Given the description of an element on the screen output the (x, y) to click on. 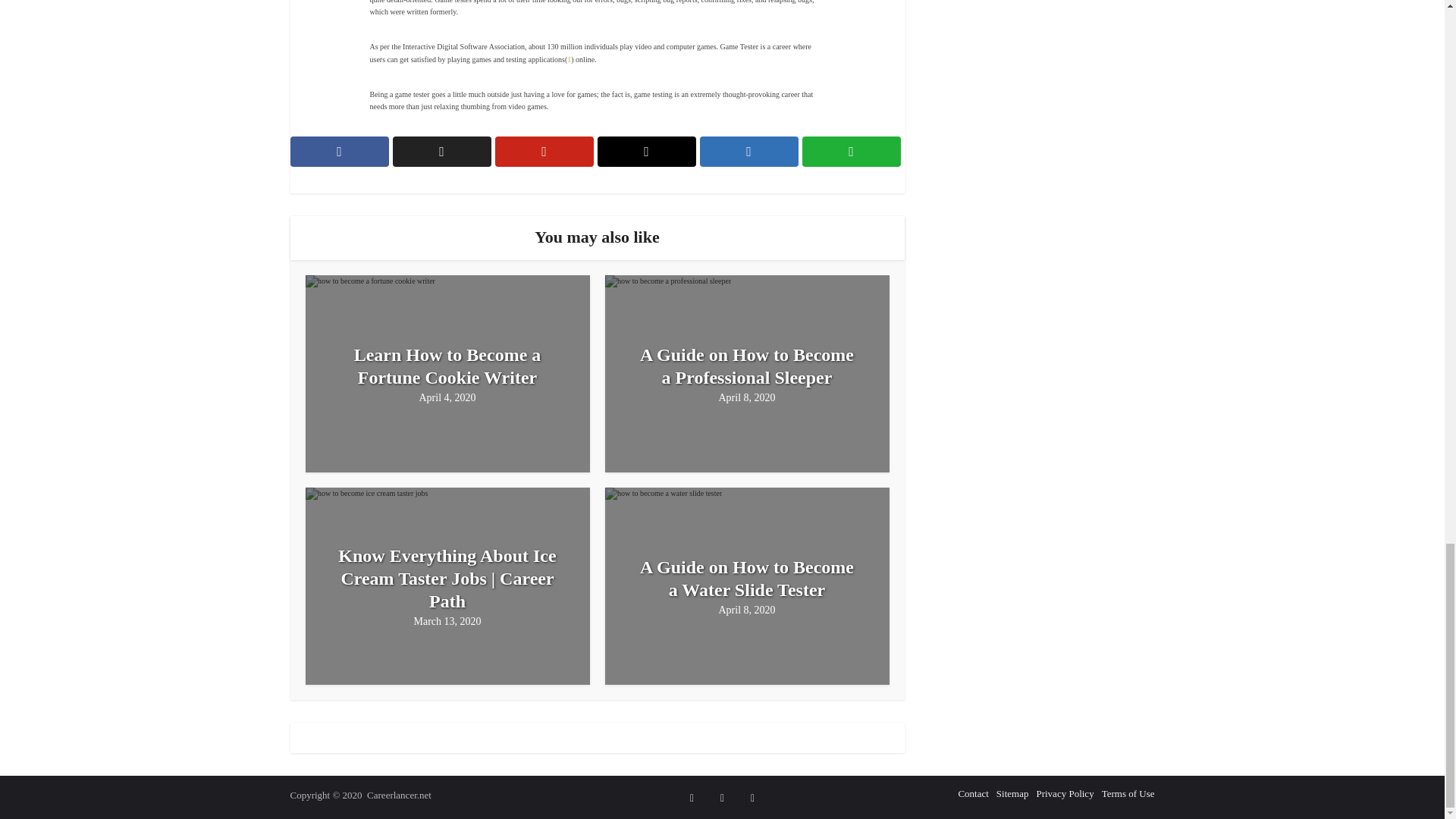
Learn How to Become a Fortune Cookie Writer (446, 366)
A Guide on How to Become a Professional Sleeper (747, 366)
A Guide on How to Become a Water Slide Tester (747, 578)
